Given the description of an element on the screen output the (x, y) to click on. 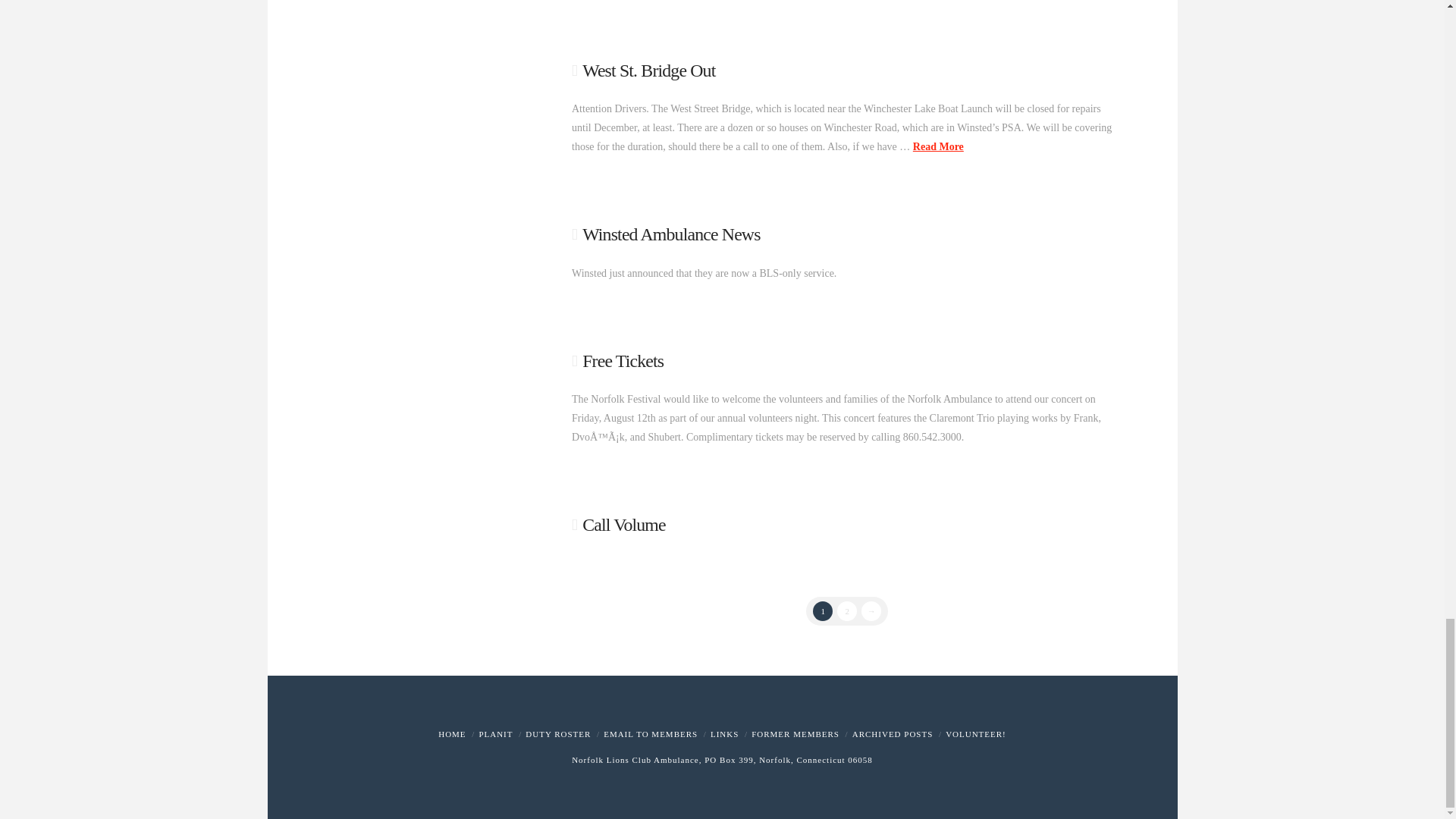
Permalink to: "West St. Bridge Out" (648, 70)
West St. Bridge Out (648, 70)
Winsted Ambulance News (671, 234)
Read More (937, 146)
